Given the description of an element on the screen output the (x, y) to click on. 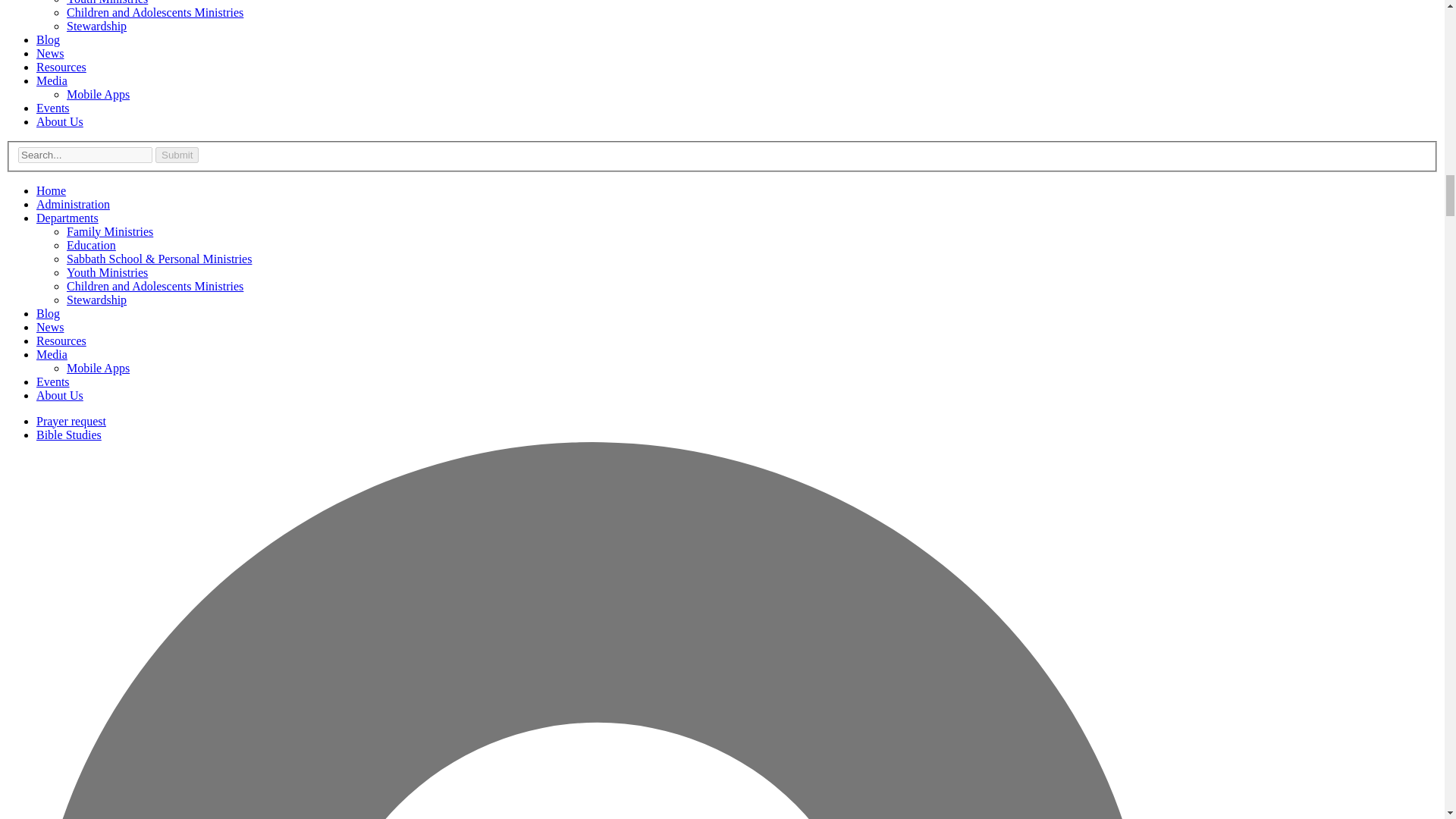
Children and Adolescents Ministries (154, 11)
Stewardship (96, 299)
Blog (47, 313)
Youth Ministries (107, 2)
Education (91, 245)
Family Ministries (109, 231)
Mobile Apps (97, 367)
About Us (59, 395)
Media (51, 80)
Children and Adolescents Ministries (154, 286)
Blog (47, 39)
Home (50, 190)
Resources (60, 66)
News (50, 52)
Events (52, 107)
